Given the description of an element on the screen output the (x, y) to click on. 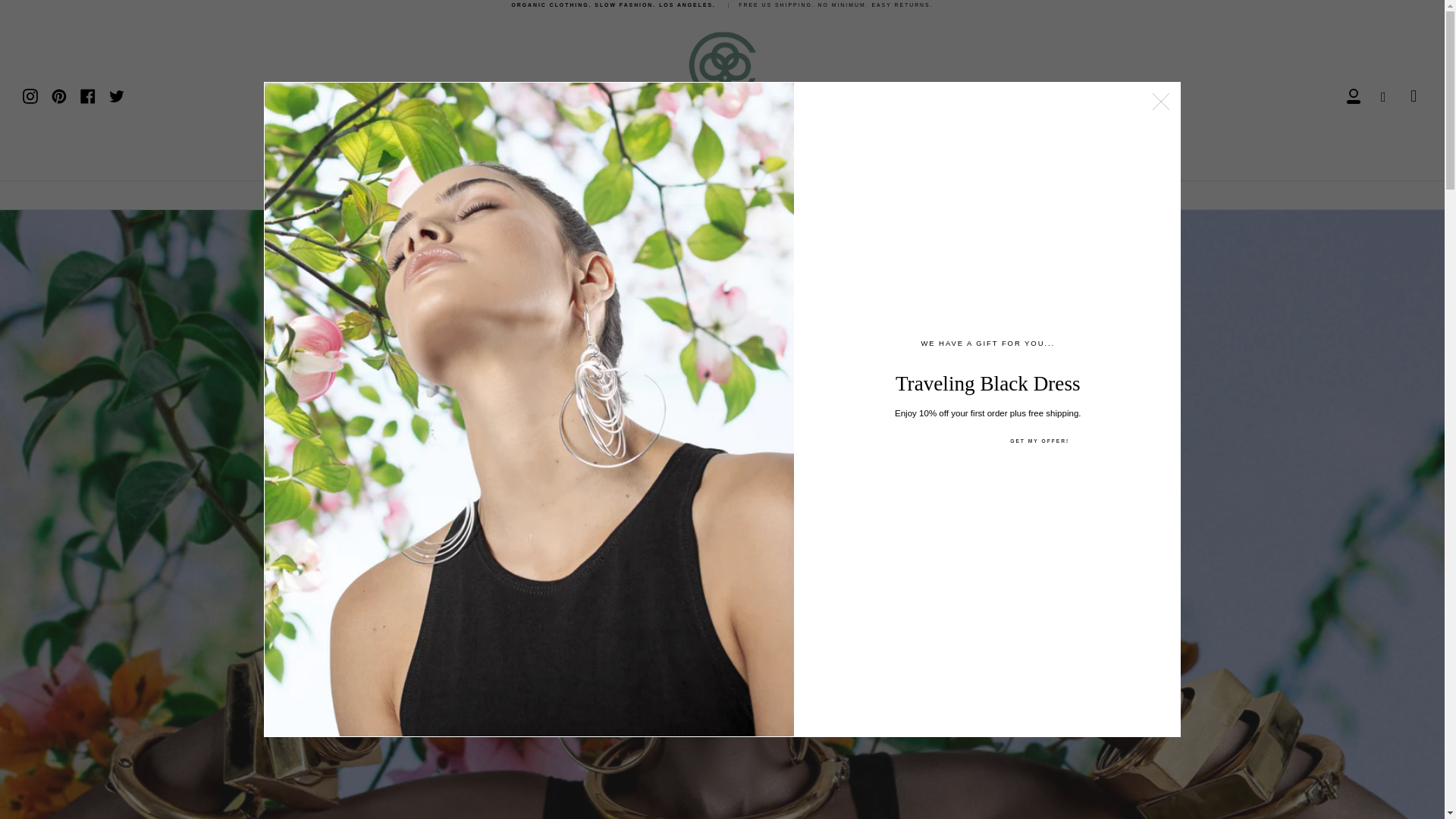
Traveling Black Dress on Pinterest (58, 94)
Pinterest (58, 94)
Home (630, 195)
Catalog (697, 195)
Twitter (116, 94)
Facebook (88, 94)
Instagram (30, 94)
Traveling Black Dress on Facebook (88, 94)
Traveling Black Dress on Instagram (30, 94)
About (763, 195)
